Given the description of an element on the screen output the (x, y) to click on. 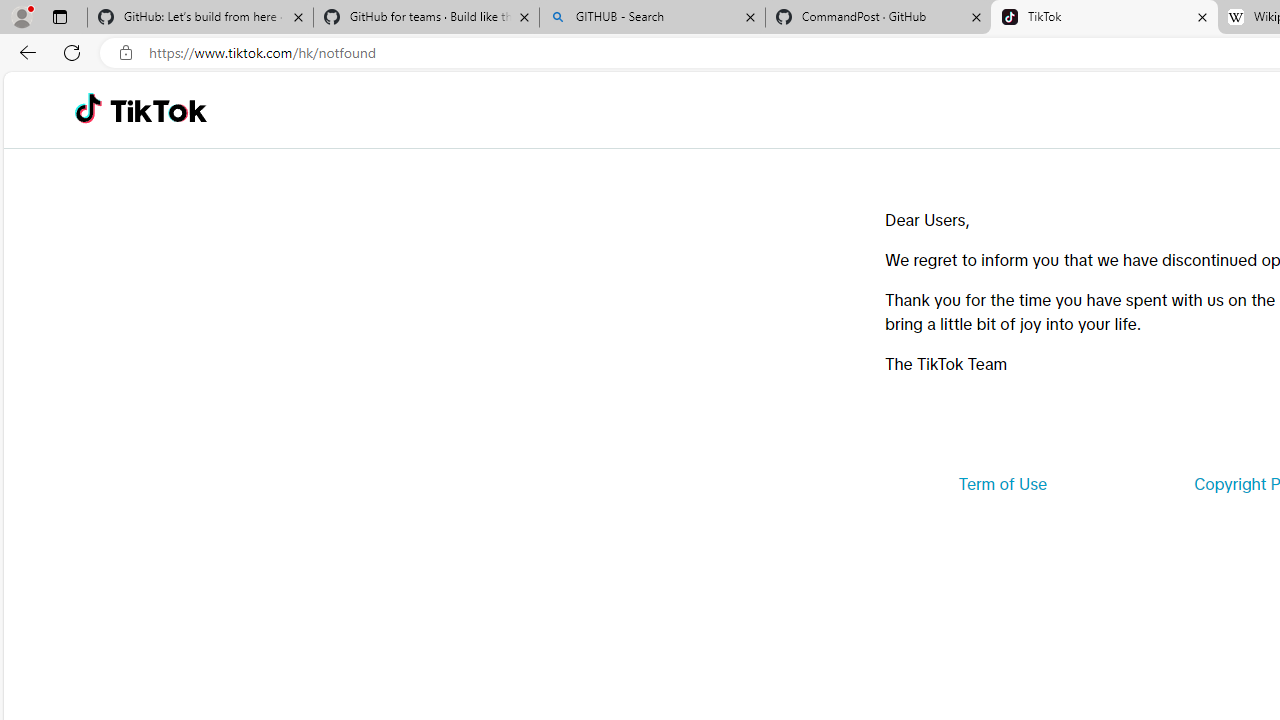
Term of Use (1002, 484)
GITHUB - Search (652, 17)
